Given the description of an element on the screen output the (x, y) to click on. 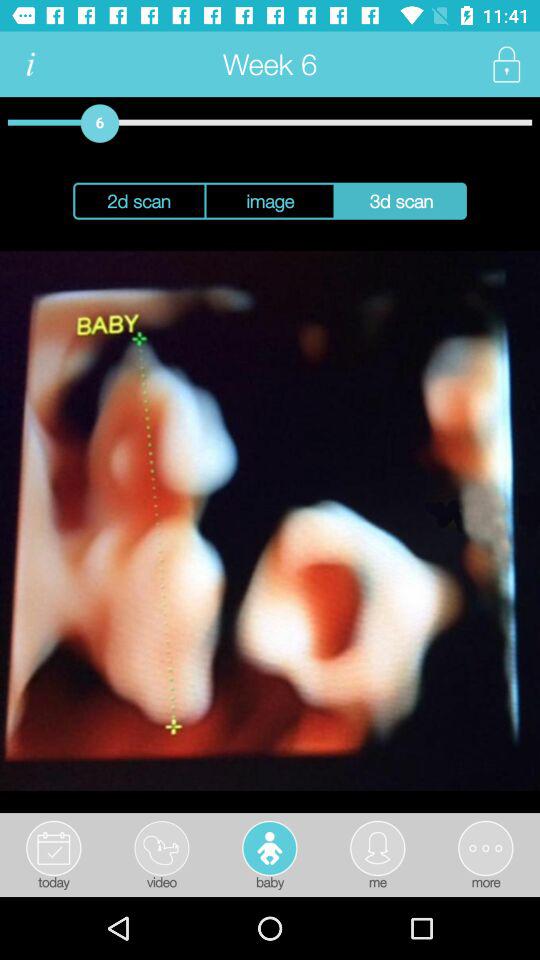
information (30, 63)
